Given the description of an element on the screen output the (x, y) to click on. 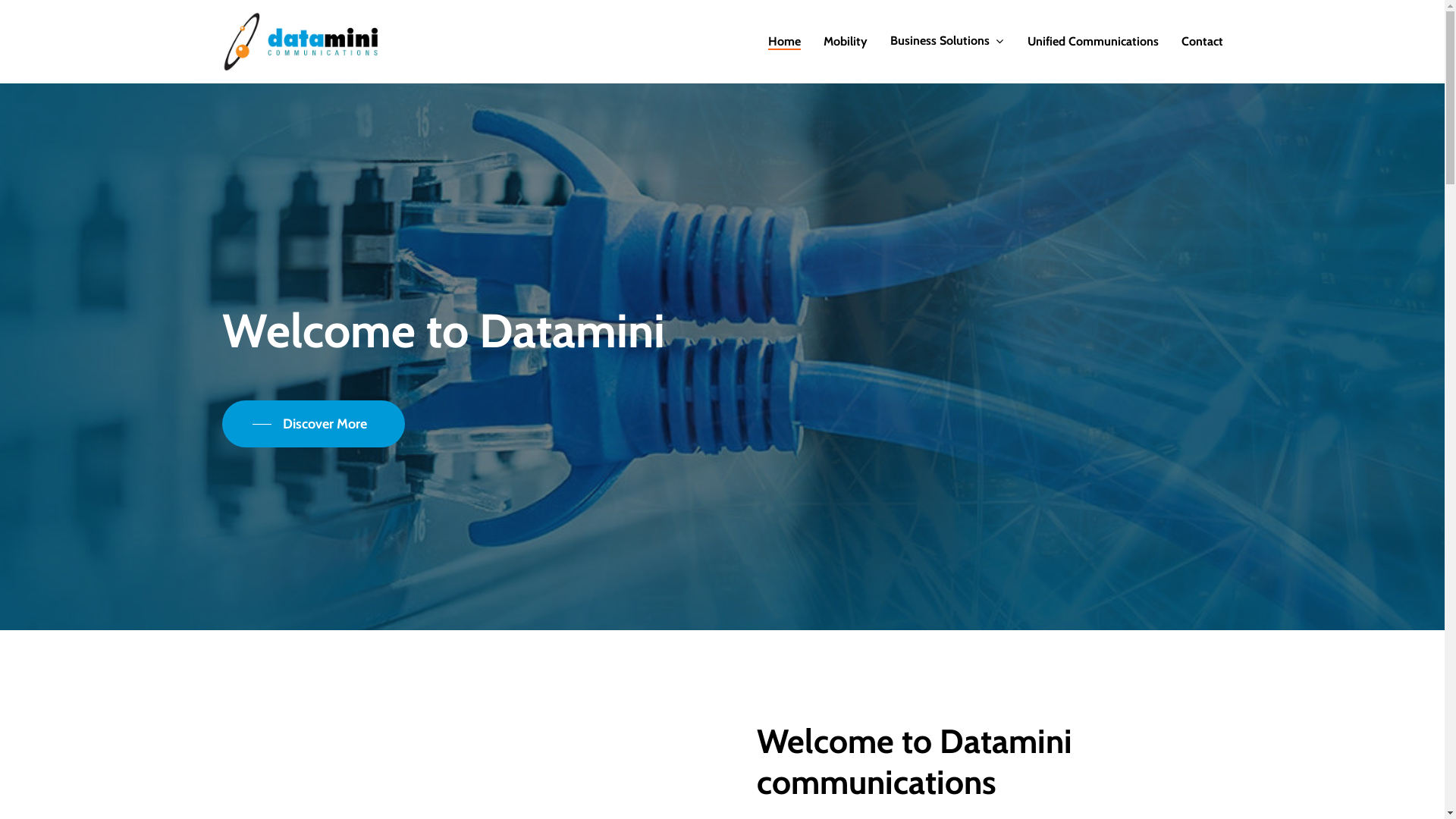
Unified Communications Element type: text (1091, 41)
Discover More Element type: text (312, 423)
Business Solutions Element type: text (947, 40)
Mobility Element type: text (845, 41)
Home Element type: text (783, 41)
Contact Element type: text (1202, 41)
